Given the description of an element on the screen output the (x, y) to click on. 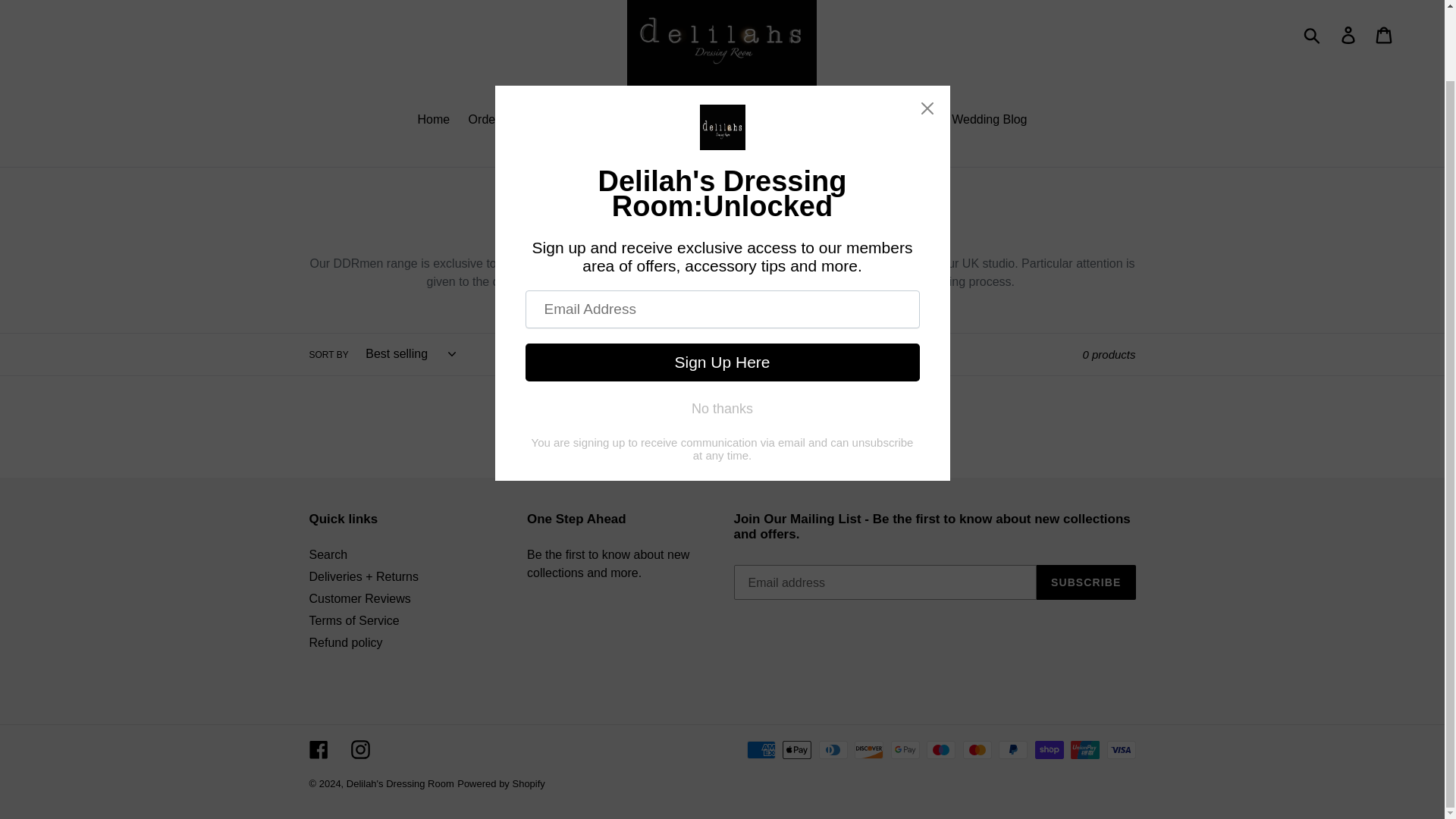
Instagram (359, 749)
Our Story (661, 120)
Home (433, 120)
Search (327, 554)
Press (721, 120)
Log in (1349, 33)
Minding My Own Small Business (844, 120)
Customer Reviews (359, 598)
Submit (1313, 33)
Wedding Blog (988, 120)
